Given the description of an element on the screen output the (x, y) to click on. 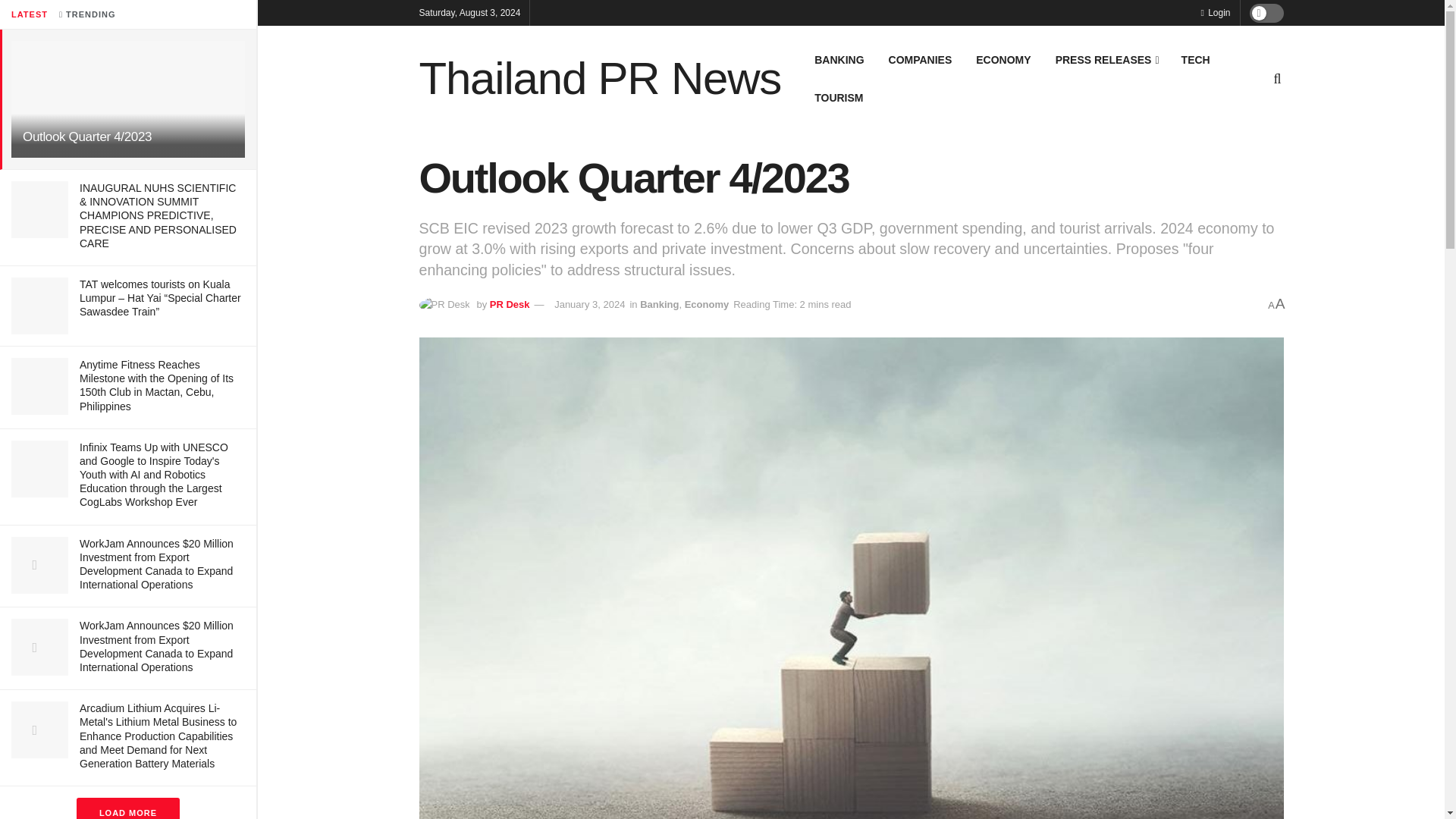
TECH (1196, 59)
PRESS RELEASES (1106, 59)
LOAD MORE (128, 808)
COMPANIES (919, 59)
ECONOMY (1002, 59)
BANKING (839, 59)
TOURISM (838, 97)
Login (1214, 12)
Thailand PR News (599, 78)
